Given the description of an element on the screen output the (x, y) to click on. 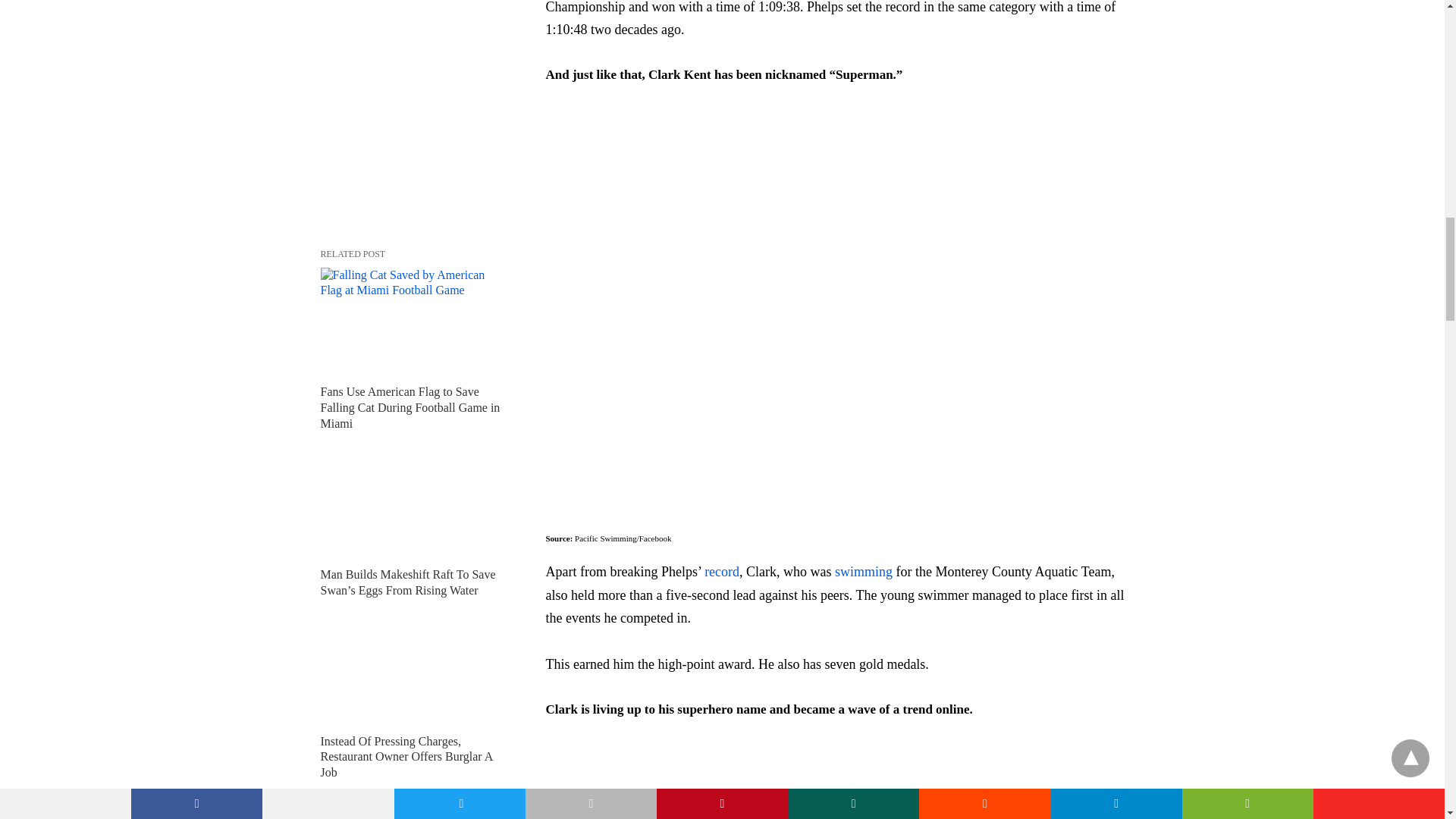
record (721, 571)
swimming (865, 571)
